Given the description of an element on the screen output the (x, y) to click on. 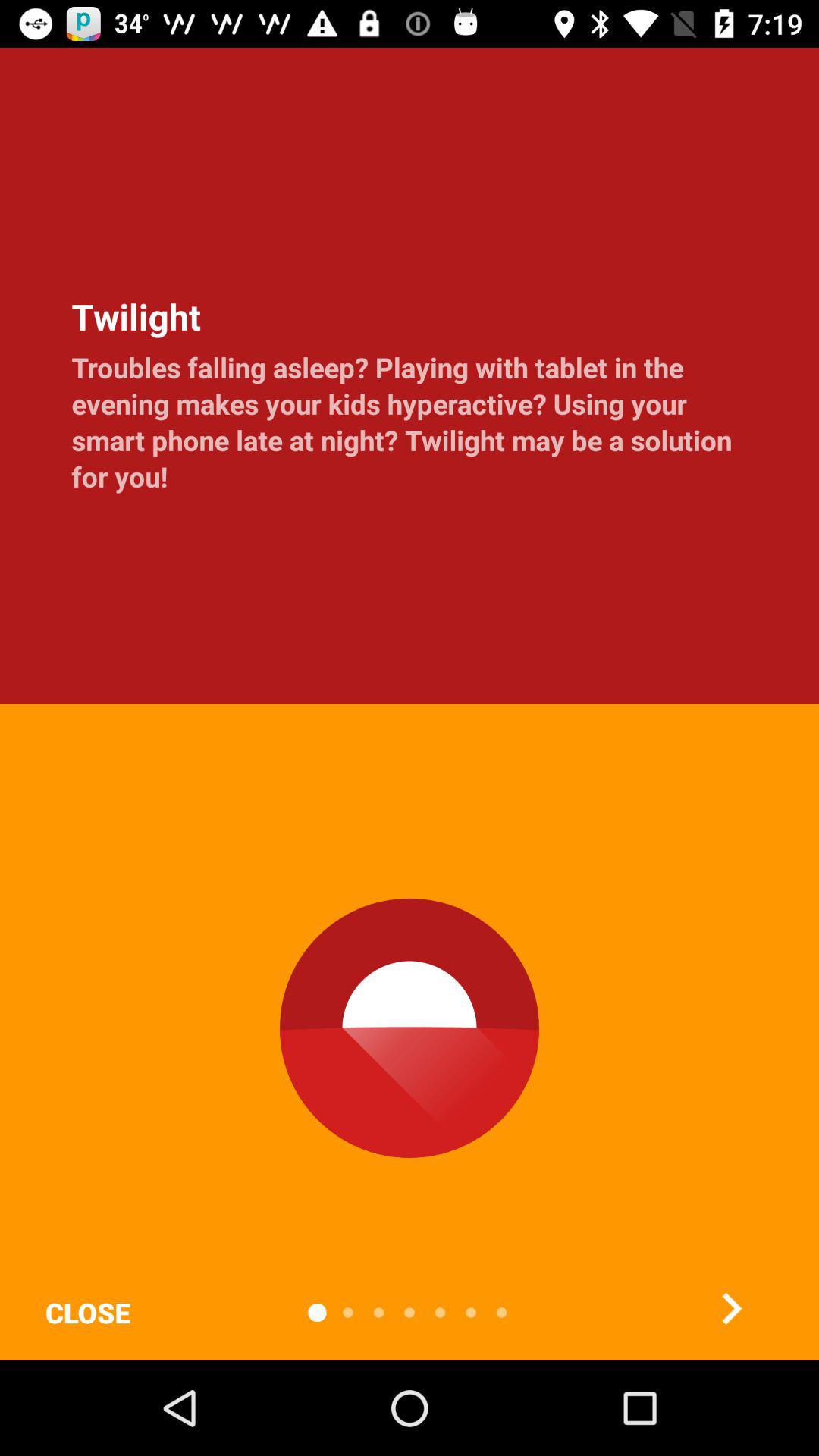
turn on the item below the troubles falling asleep (731, 1308)
